Given the description of an element on the screen output the (x, y) to click on. 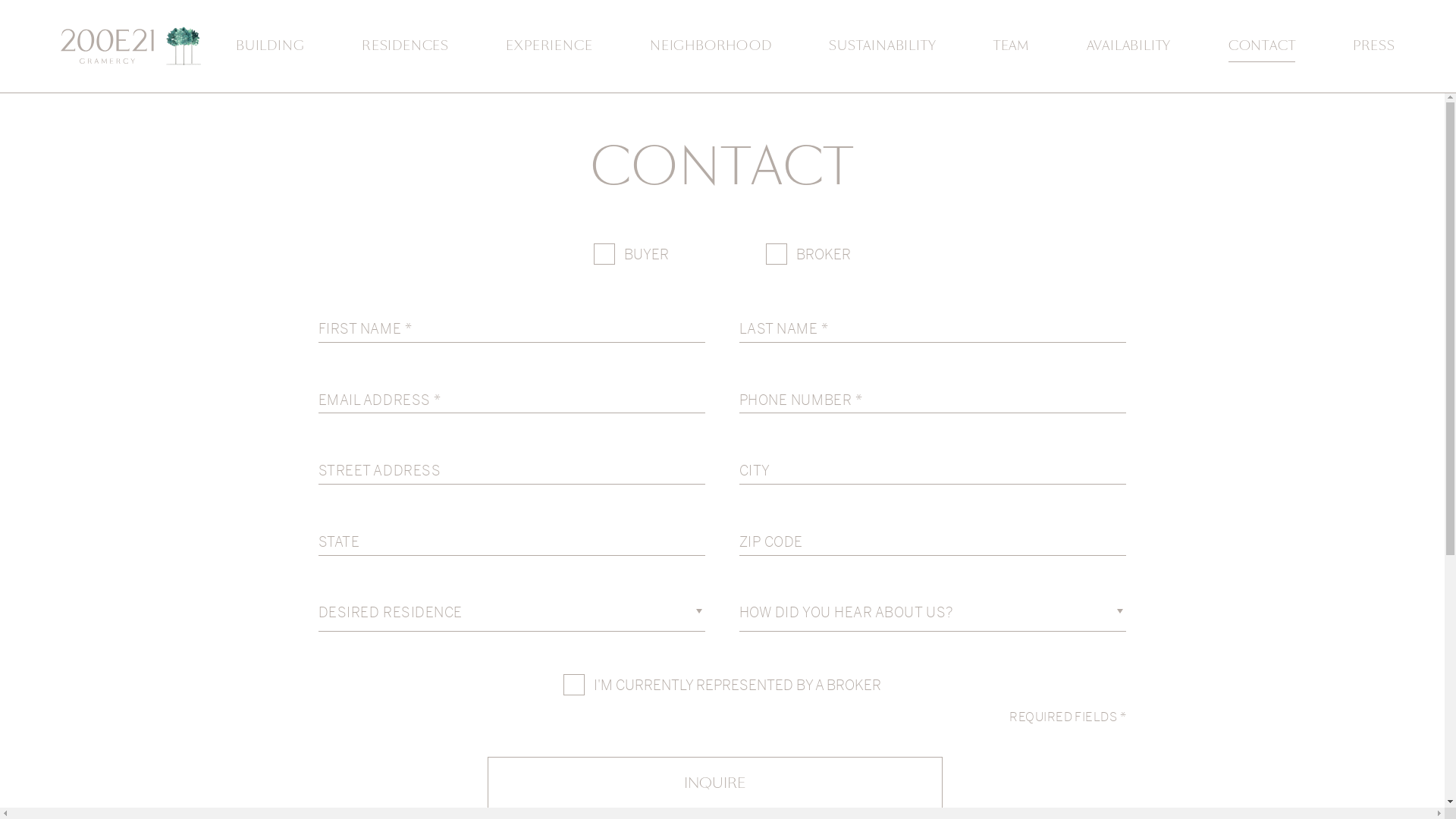
TEAM Element type: text (1011, 46)
AVAILABILITY Element type: text (1128, 46)
Inquire Element type: text (713, 782)
EXPERIENCE Element type: text (548, 46)
RESIDENCES Element type: text (404, 46)
NEIGHBORHOOD Element type: text (710, 46)
PRESS Element type: text (1373, 46)
CONTACT Element type: text (1261, 46)
SUSTAINABILITY Element type: text (881, 46)
BUILDING Element type: text (269, 46)
